Given the description of an element on the screen output the (x, y) to click on. 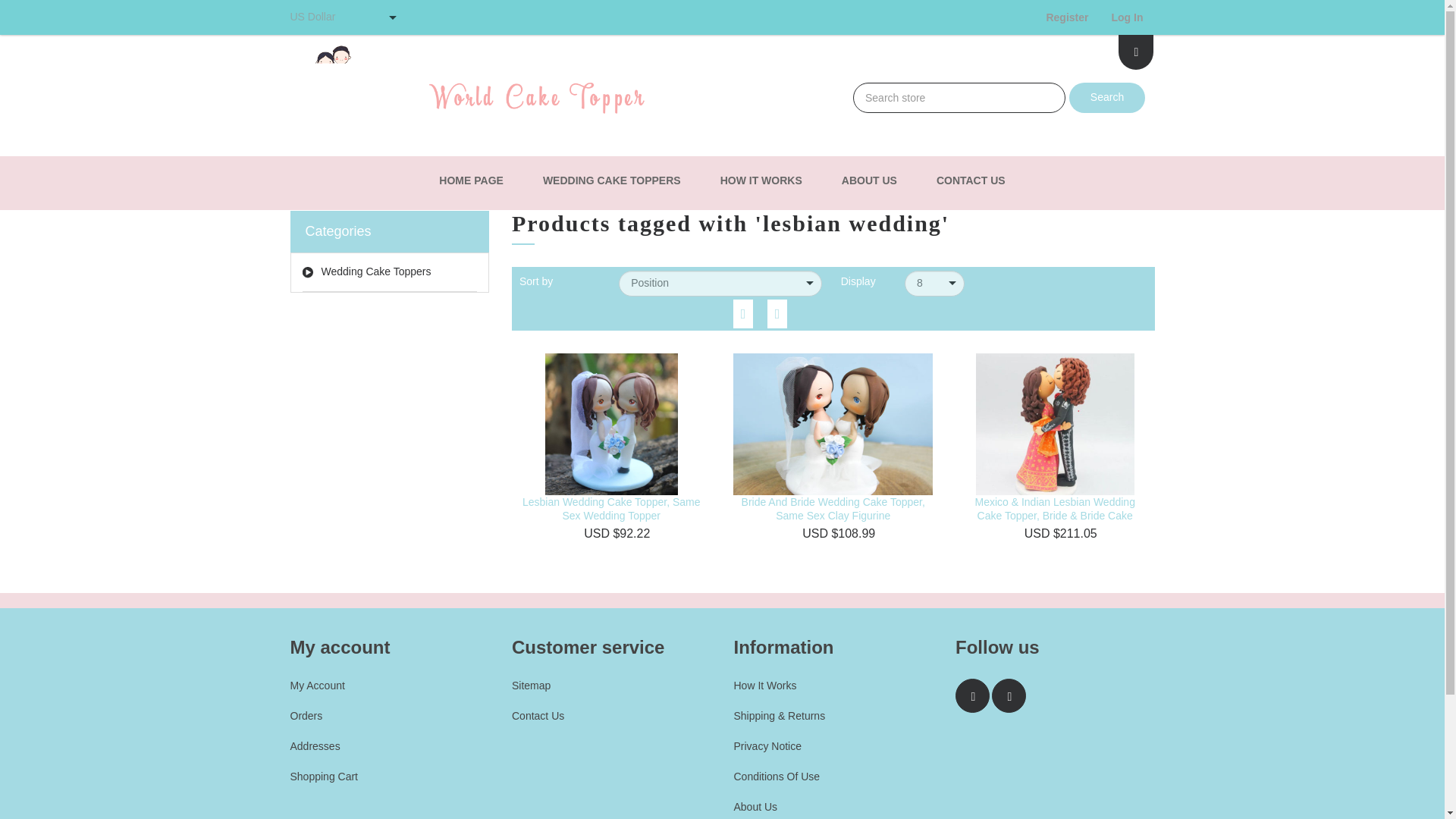
Wedding Cake Toppers (389, 272)
Bride And Bride Wedding Cake Topper, Same Sex Clay Figurine (832, 508)
List (777, 313)
Lesbian Wedding Cake Topper, Same Sex Wedding Topper (611, 508)
HOME PAGE (470, 180)
ABOUT US (869, 180)
Search (1106, 97)
CONTACT US (971, 180)
Register (1066, 17)
Log In (1126, 17)
Grid (743, 313)
WEDDING CAKE TOPPERS (611, 180)
